Given the description of an element on the screen output the (x, y) to click on. 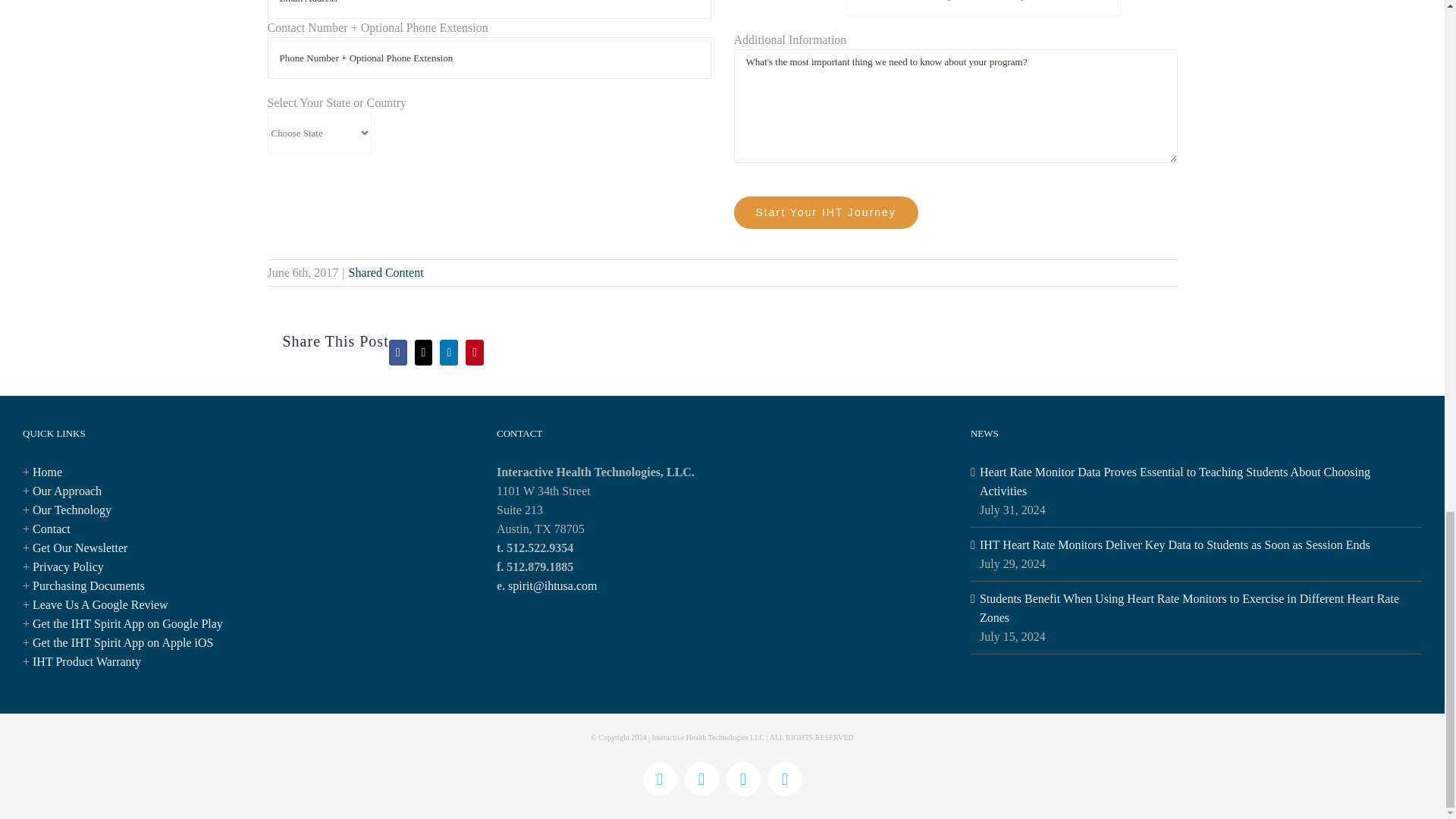
Instagram (743, 779)
X (700, 779)
Start Your IHT Journey (825, 212)
Facebook (660, 779)
LinkedIn (784, 779)
